Given the description of an element on the screen output the (x, y) to click on. 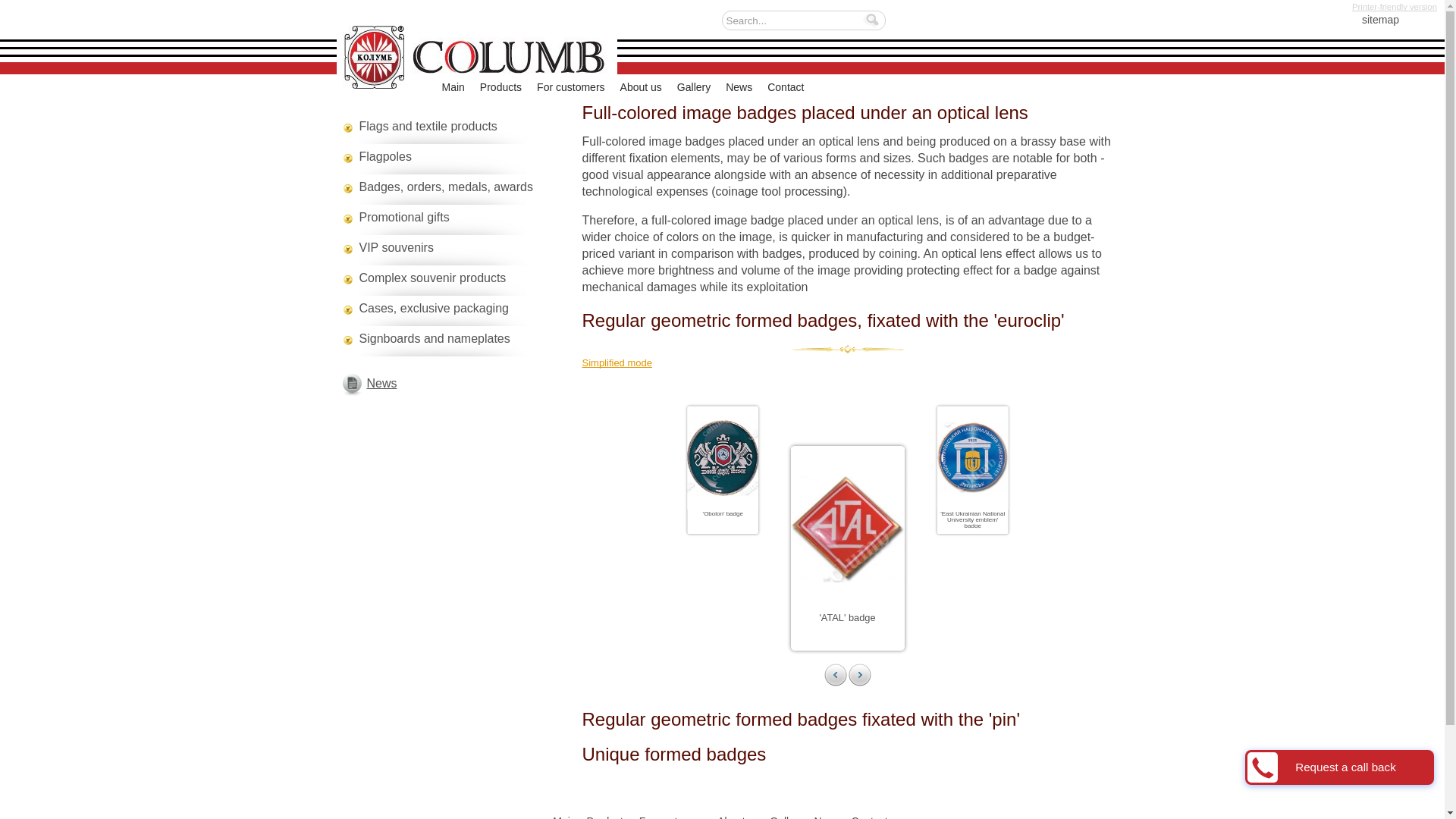
Gallery (693, 87)
Products (500, 87)
sitemap (1368, 23)
News (738, 87)
Main (452, 87)
Contact (785, 87)
For customers (570, 87)
sitemap (1368, 23)
'Obolon' badge (734, 514)
